Given the description of an element on the screen output the (x, y) to click on. 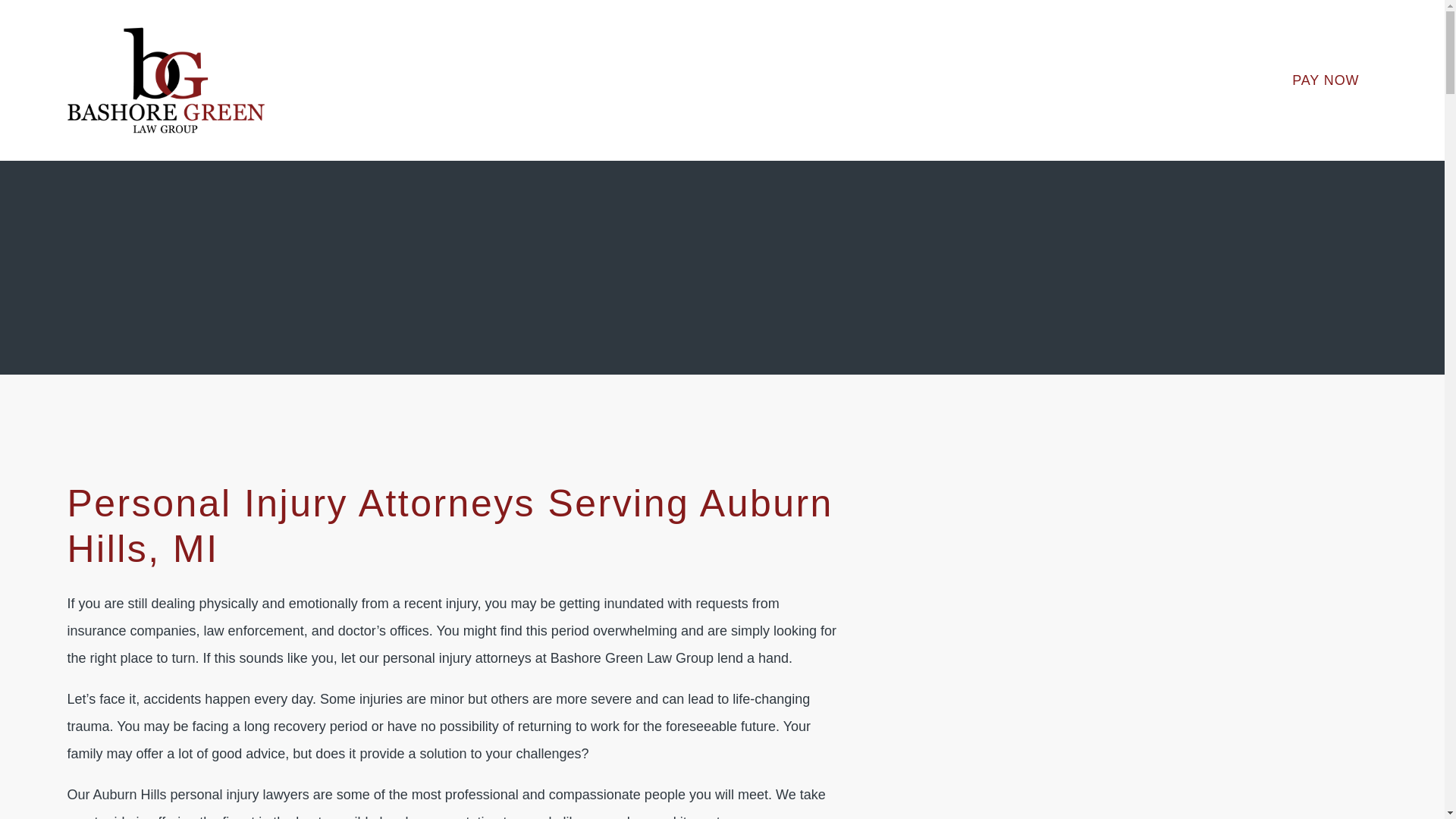
Bashore Green Law Group (164, 80)
Home (164, 80)
